Given the description of an element on the screen output the (x, y) to click on. 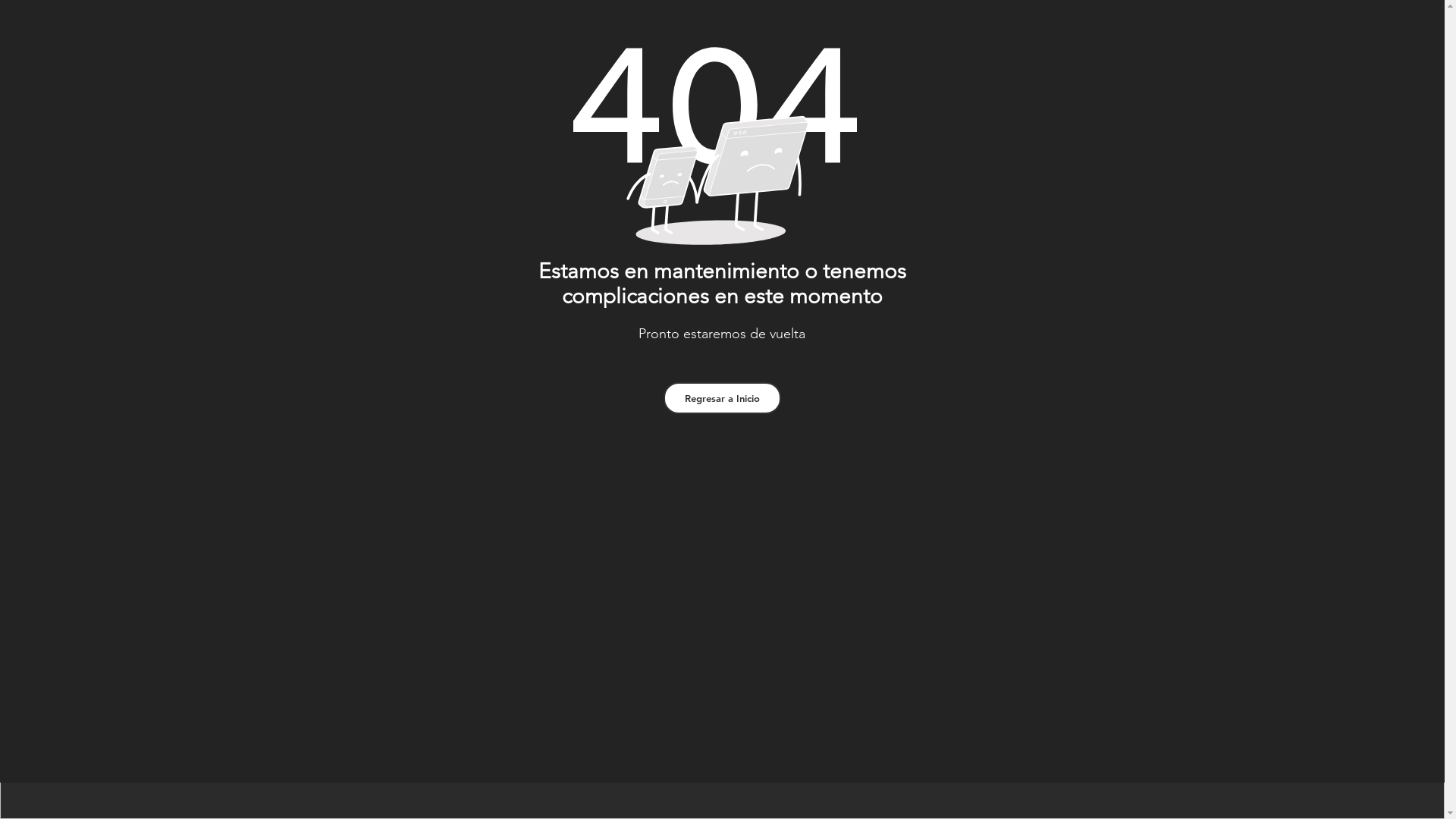
Regresar a Inicio Element type: text (721, 398)
